Given the description of an element on the screen output the (x, y) to click on. 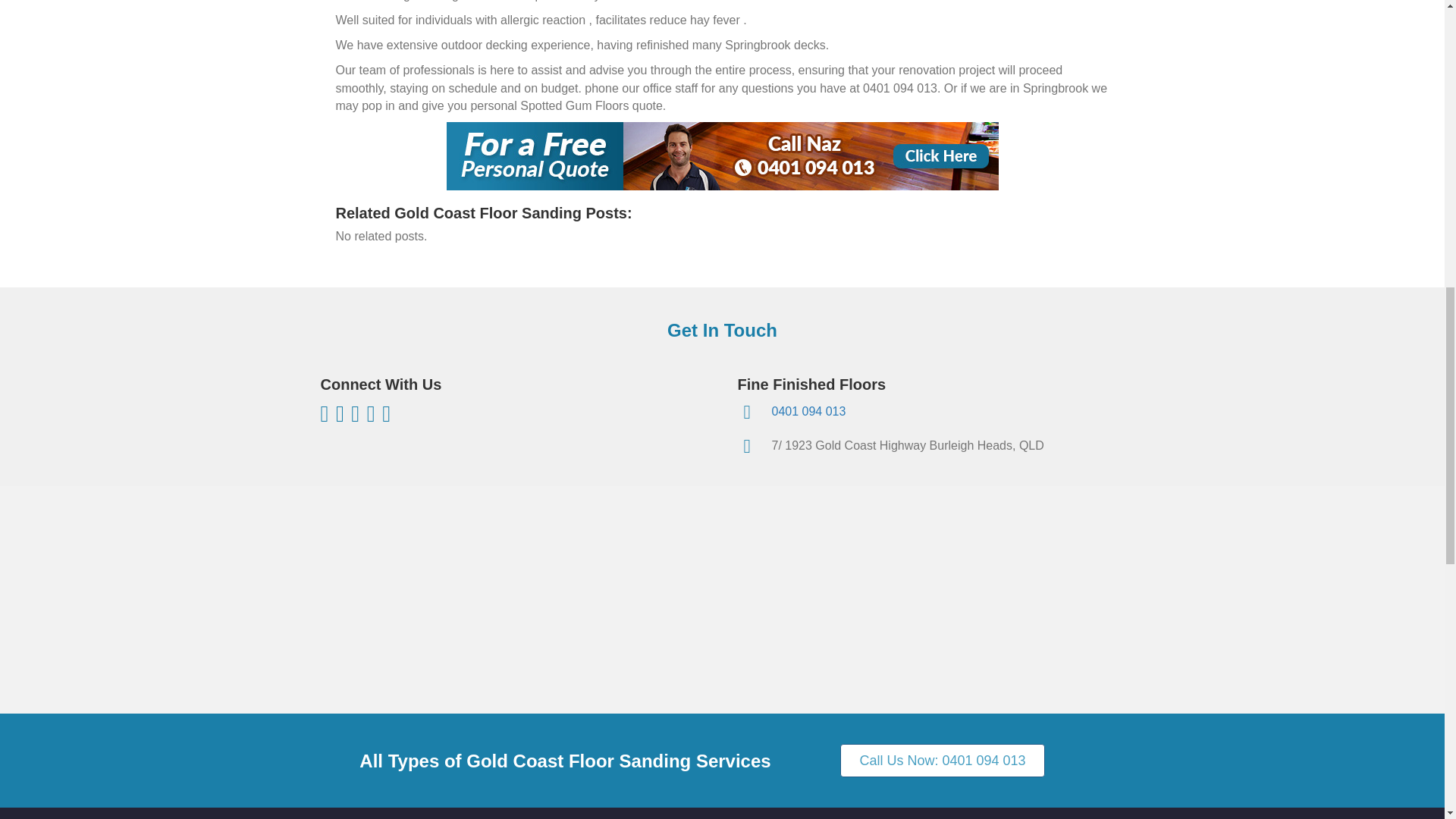
0401 094 013 (808, 410)
Call Us Now: 0401 094 013 (941, 760)
